Given the description of an element on the screen output the (x, y) to click on. 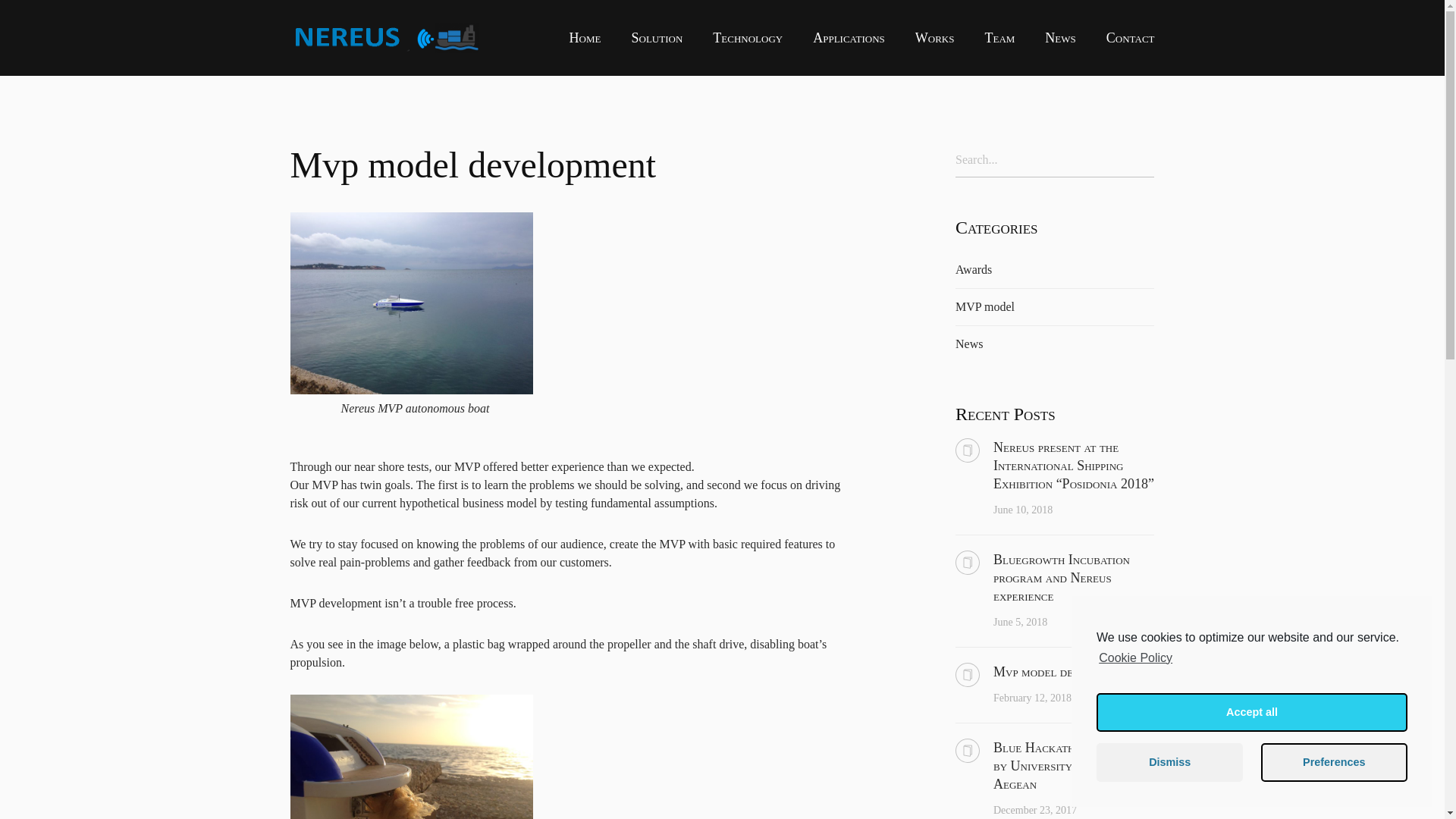
Awards (973, 269)
December 23, 2017 (1034, 809)
Blue Hackathon 2017 by University of the Aegean (1073, 765)
Applications (848, 37)
Contact (1130, 37)
News (968, 343)
Home (585, 37)
Team (999, 37)
Technology (748, 37)
Bluegrowth Incubation program and Nereus experience (1073, 577)
June 5, 2018 (1019, 622)
Works (935, 37)
MVP model (984, 306)
Solution (656, 37)
News (1060, 37)
